Given the description of an element on the screen output the (x, y) to click on. 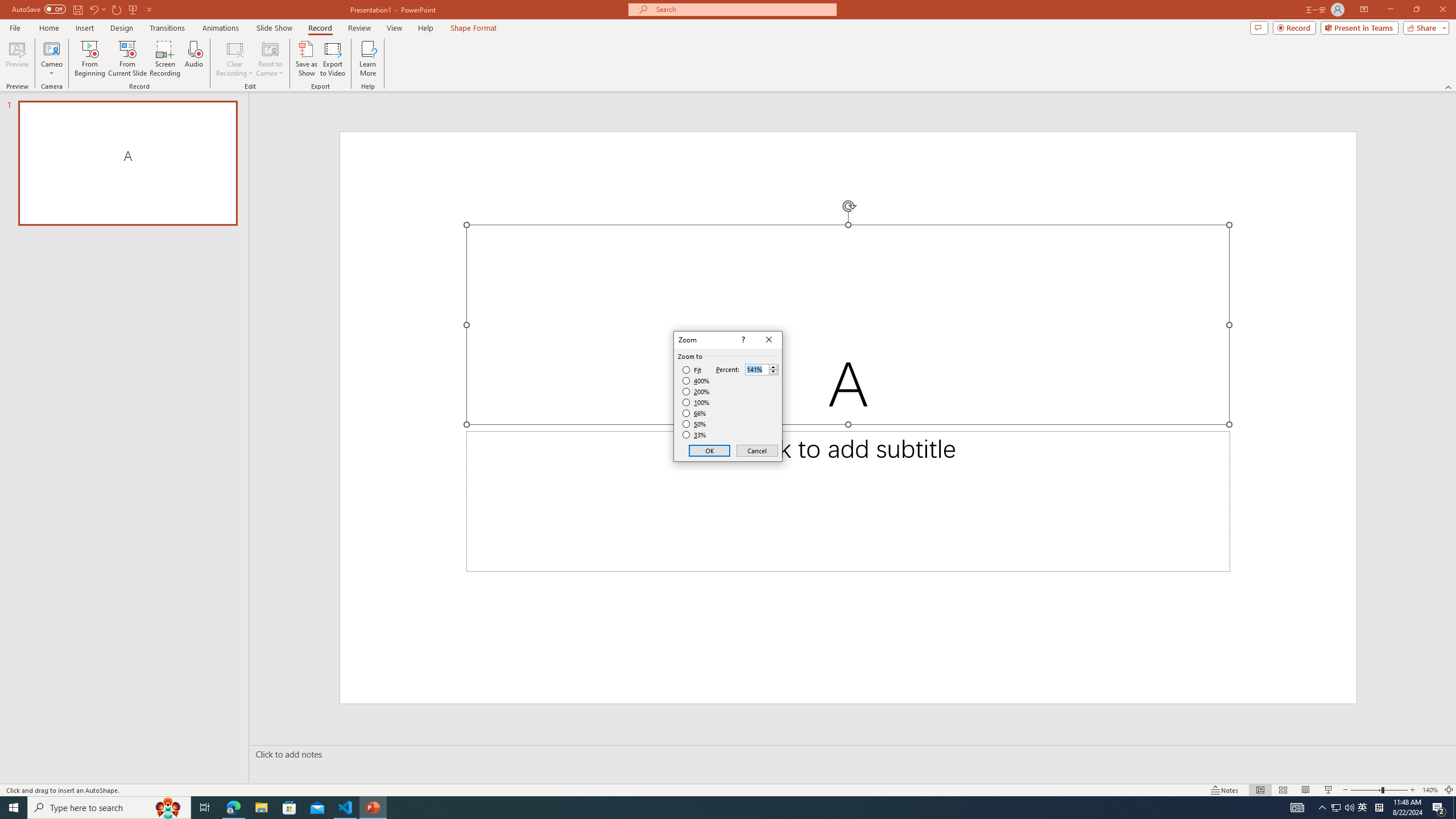
100% (696, 402)
66% (694, 412)
Percent (761, 369)
